Given the description of an element on the screen output the (x, y) to click on. 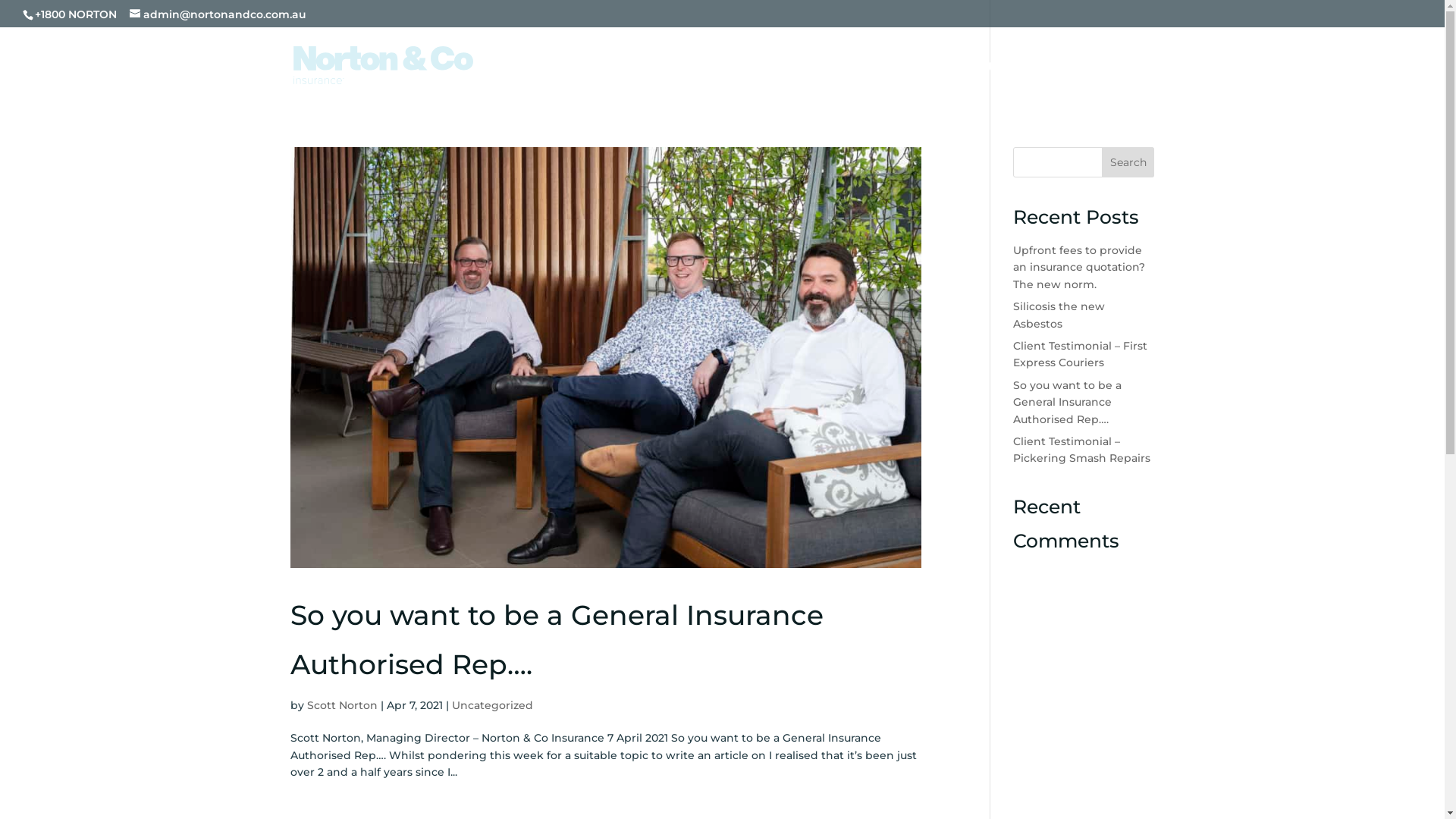
Claims Element type: text (919, 81)
+1800 NORTON Element type: text (75, 14)
admin@nortonandco.com.au Element type: text (217, 14)
Uncategorized Element type: text (492, 705)
Blog Element type: text (975, 81)
About Element type: text (1036, 81)
Contact Us Element type: text (1119, 81)
Search Element type: text (1127, 162)
Scott Norton Element type: text (341, 705)
Silicosis the new Asbestos Element type: text (1058, 314)
Services Element type: text (843, 81)
Suppliers Element type: text (760, 81)
Products Element type: text (674, 81)
